Given the description of an element on the screen output the (x, y) to click on. 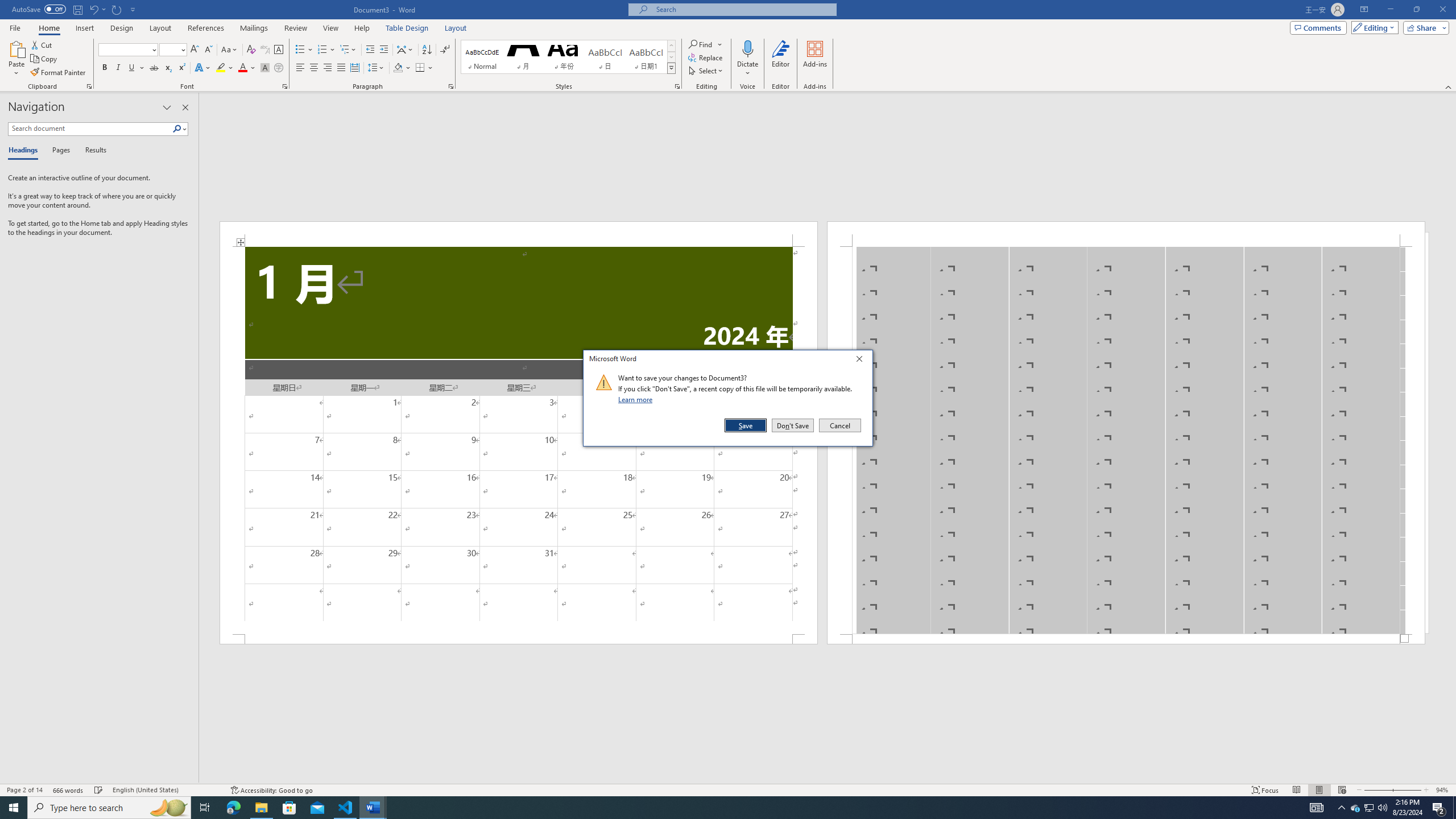
Styles... (676, 85)
Superscript (180, 67)
Cancel (839, 425)
Undo Shrink Font (92, 9)
Character Border (278, 49)
Text Highlight Color Yellow (220, 67)
Clear Formatting (250, 49)
Show/Hide Editing Marks (444, 49)
